Given the description of an element on the screen output the (x, y) to click on. 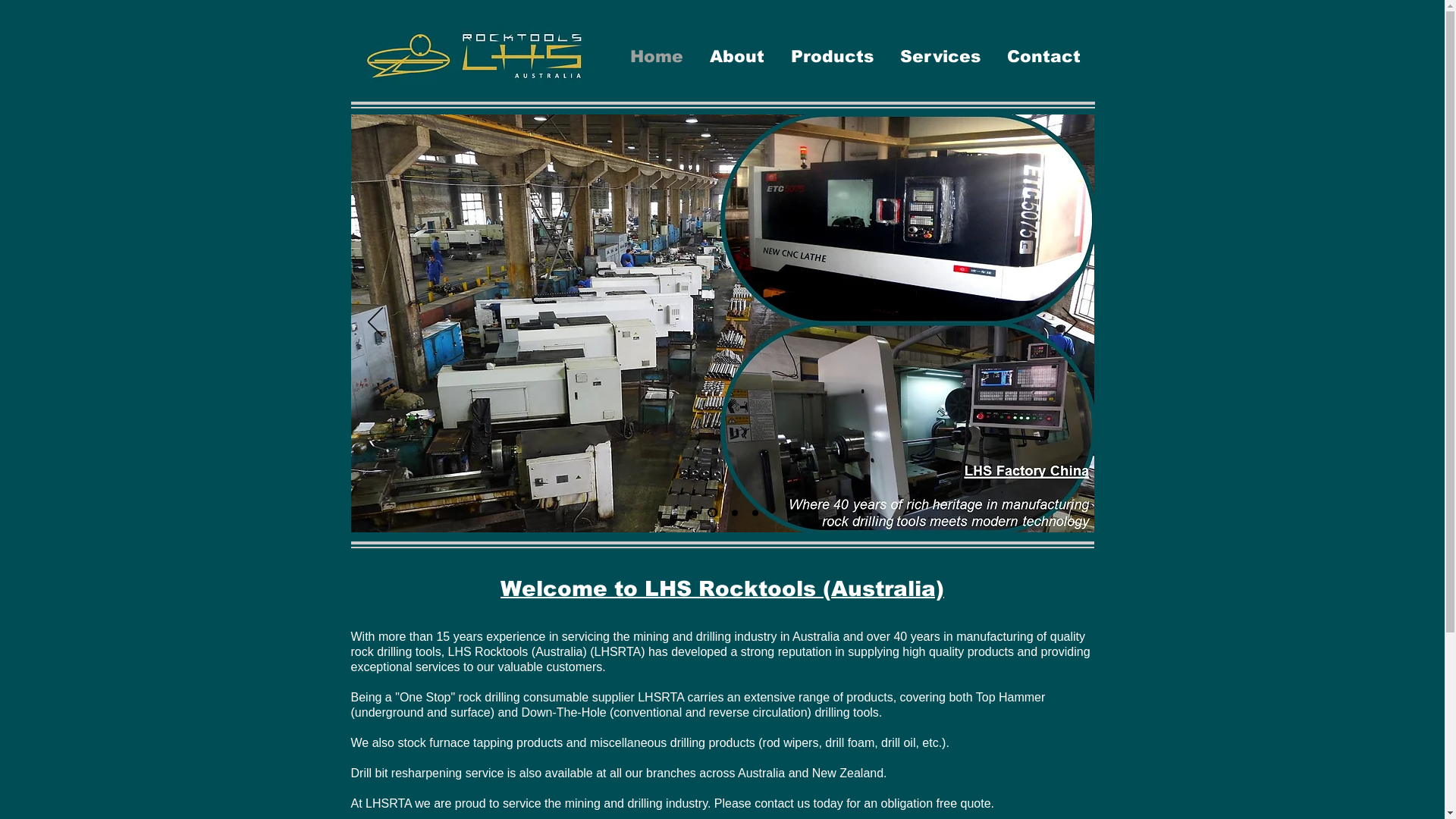
Services Element type: text (940, 56)
About Element type: text (736, 56)
Home Element type: text (656, 56)
Contact Element type: text (1043, 56)
Products Element type: text (832, 56)
